Given the description of an element on the screen output the (x, y) to click on. 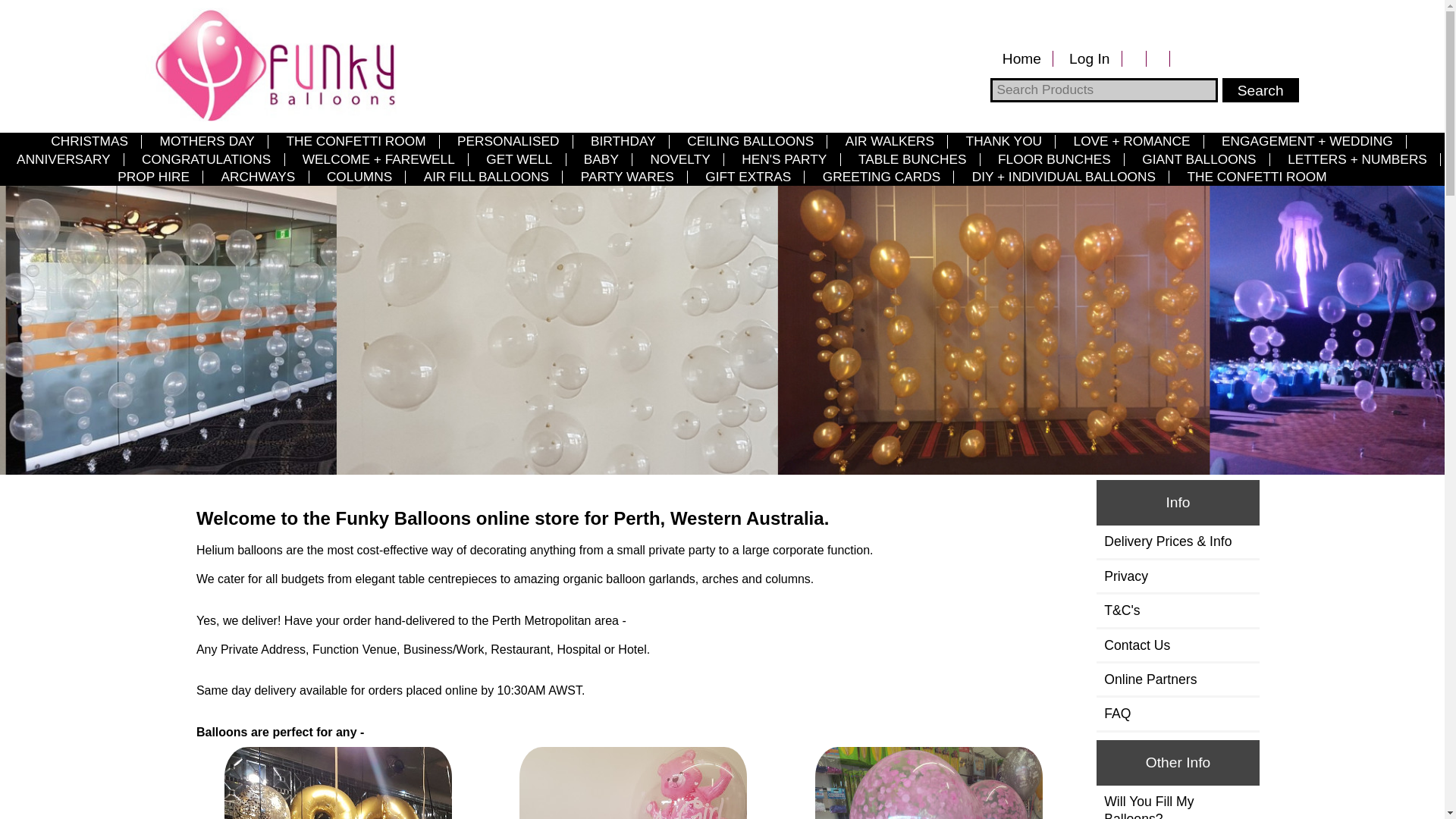
WELCOME + FAREWELL Element type: text (378, 159)
GREETING CARDS Element type: text (881, 176)
DIY + INDIVIDUAL BALLOONS Element type: text (1063, 176)
Online Partners Element type: text (1177, 679)
LOVE + ROMANCE Element type: text (1131, 140)
Delivery Prices & Info Element type: text (1177, 541)
THE CONFETTI ROOM Element type: text (356, 140)
COLUMNS Element type: text (359, 176)
Home Element type: text (1021, 58)
GIANT BALLOONS Element type: text (1199, 159)
Privacy Element type: text (1177, 576)
 Funky Balloons, Perth (WA) - Balloon Delivery Online  Element type: hover (270, 64)
CEILING BALLOONS Element type: text (750, 140)
CHRISTMAS Element type: text (89, 140)
NOVELTY Element type: text (680, 159)
BIRTHDAY Element type: text (622, 140)
THE CONFETTI ROOM Element type: text (1256, 176)
Contact Us Element type: text (1177, 645)
TABLE BUNCHES Element type: text (912, 159)
PARTY WARES Element type: text (627, 176)
FLOOR BUNCHES Element type: text (1054, 159)
Log In Element type: text (1089, 58)
ARCHWAYS Element type: text (257, 176)
AIR WALKERS Element type: text (889, 140)
T&C's Element type: text (1177, 610)
ANNIVERSARY Element type: text (63, 159)
HEN'S PARTY Element type: text (784, 159)
GIFT EXTRAS Element type: text (747, 176)
LETTERS + NUMBERS Element type: text (1357, 159)
GET WELL Element type: text (519, 159)
ENGAGEMENT + WEDDING Element type: text (1306, 140)
CONGRATULATIONS Element type: text (206, 159)
MOTHERS DAY Element type: text (206, 140)
AIR FILL BALLOONS Element type: text (485, 176)
PROP HIRE Element type: text (153, 176)
Search Element type: text (1260, 90)
FAQ Element type: text (1177, 713)
PERSONALISED Element type: text (508, 140)
THANK YOU Element type: text (1003, 140)
BABY Element type: text (601, 159)
